Given the description of an element on the screen output the (x, y) to click on. 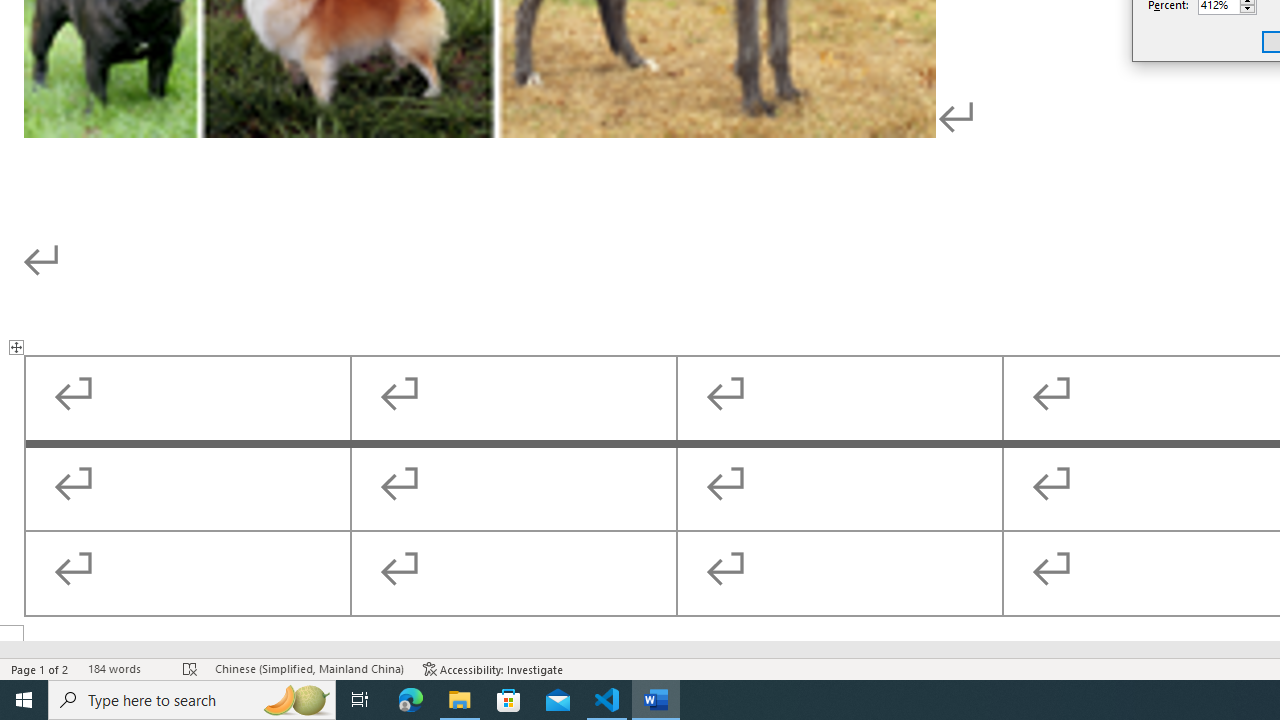
Microsoft Edge (411, 699)
Word Count 184 words (125, 668)
Word - 1 running window (656, 699)
Page Number Page 1 of 2 (39, 668)
File Explorer - 1 running window (460, 699)
